Given the description of an element on the screen output the (x, y) to click on. 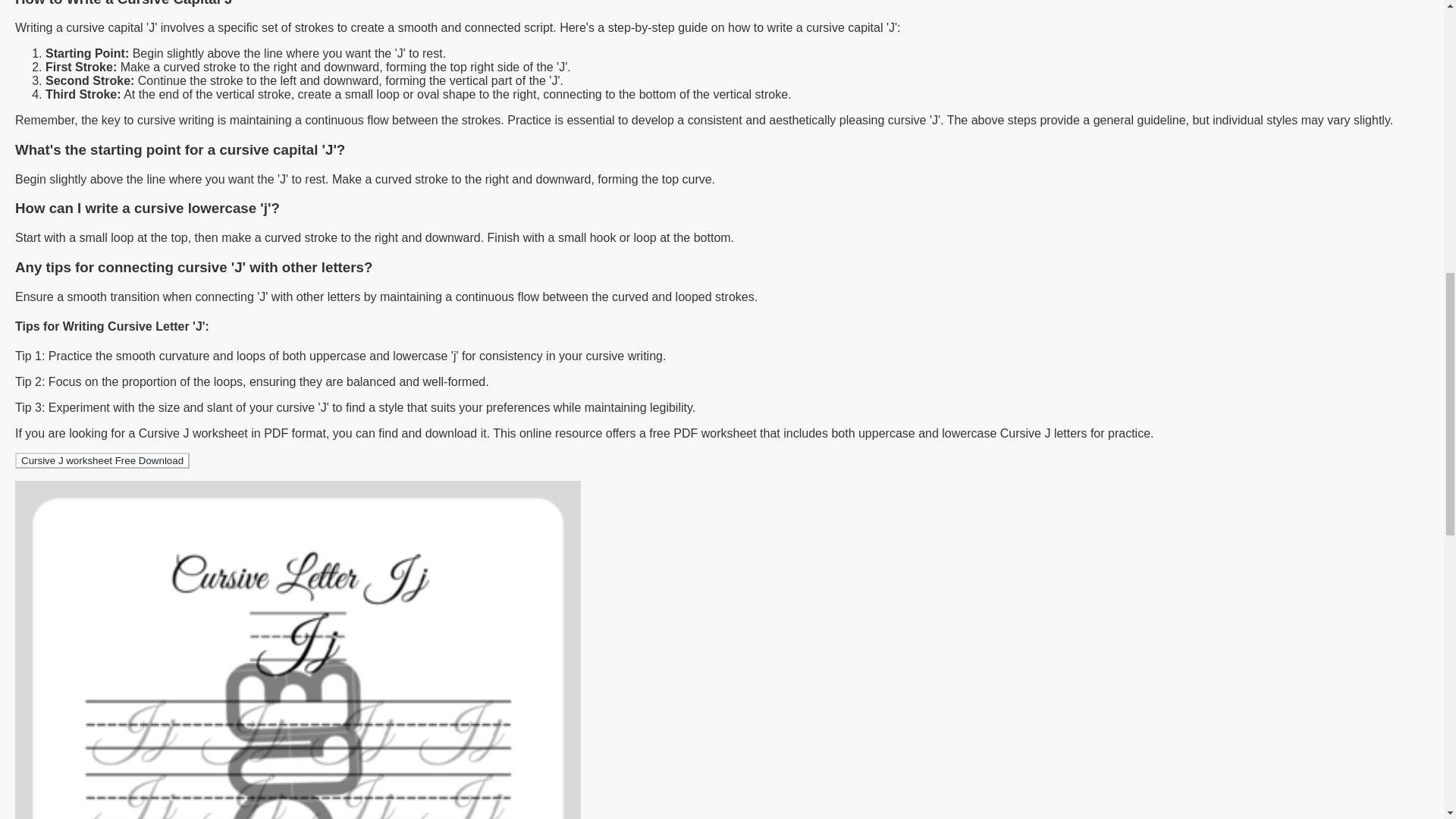
Cursive J worksheet Free Download (101, 459)
Cursive J worksheet Free Download (101, 460)
